Given the description of an element on the screen output the (x, y) to click on. 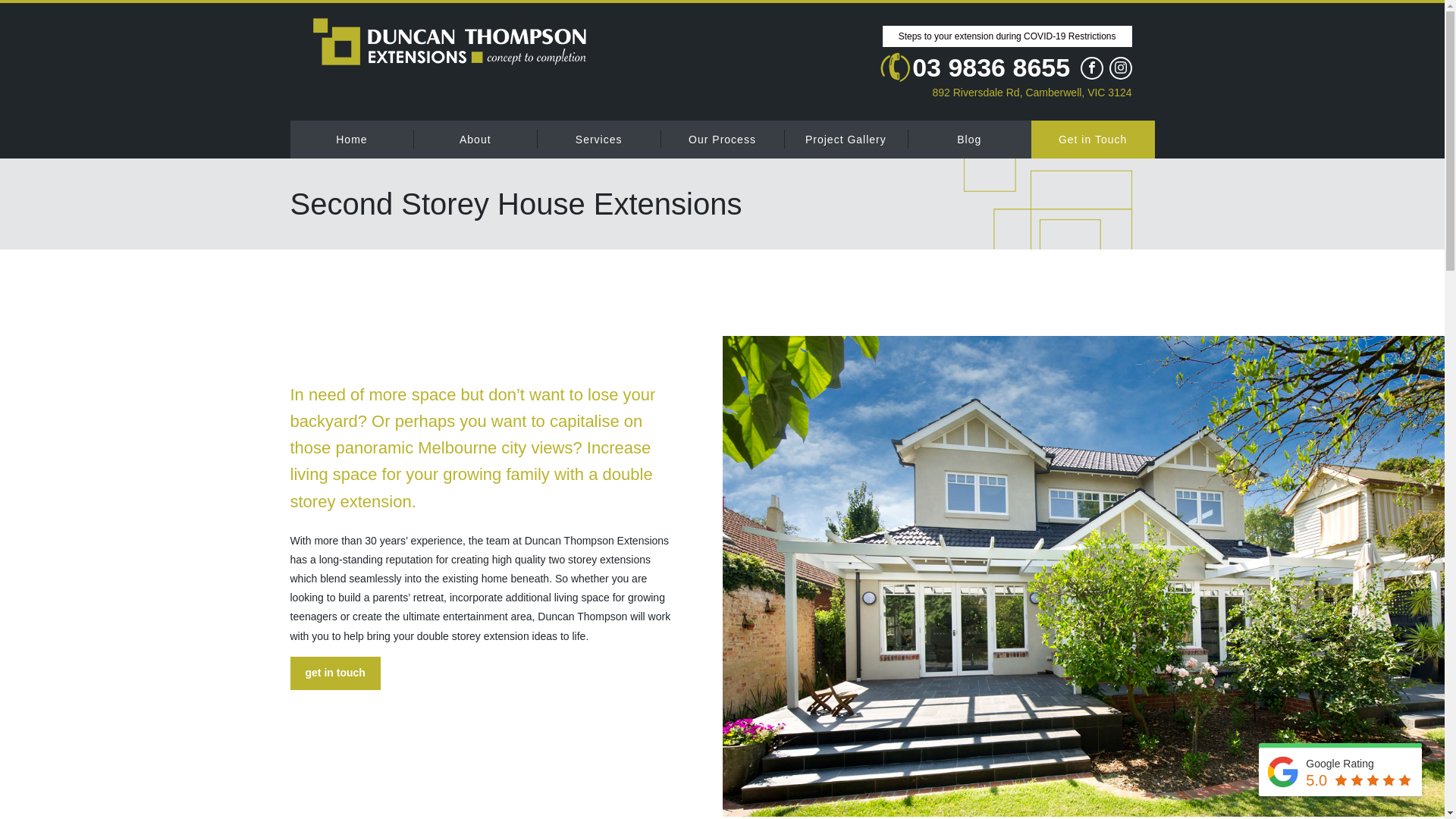
Blog Element type: text (969, 138)
892 Riversdale Rd, Camberwell, VIC 3124 Element type: text (1004, 91)
Home Element type: text (351, 138)
Get in Touch Element type: text (1092, 138)
Project Gallery Element type: text (845, 138)
03 9836 8655 Element type: text (974, 67)
Steps to your extension during COVID-19 Restrictions Element type: text (1007, 36)
About Element type: text (474, 138)
Our Process Element type: text (722, 138)
Services Element type: text (598, 138)
get in touch Element type: text (334, 673)
Duncan Thompson Extensions Element type: text (448, 41)
